Given the description of an element on the screen output the (x, y) to click on. 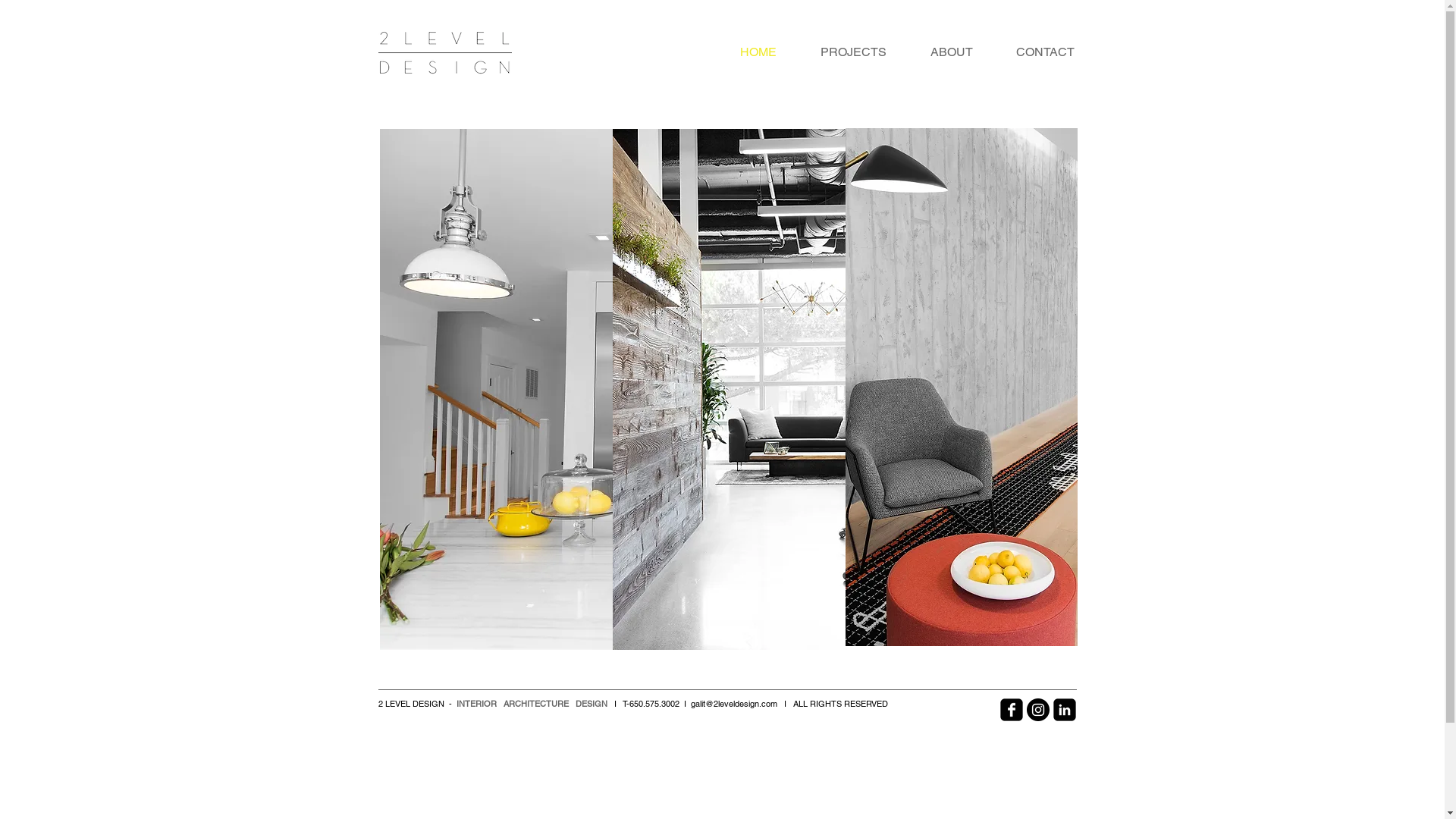
HOME Element type: text (757, 51)
galit@2leveldesign.com Element type: text (733, 703)
PROJECTS Element type: text (852, 51)
ABOUT Element type: text (951, 51)
CONTACT Element type: text (1045, 51)
